Given the description of an element on the screen output the (x, y) to click on. 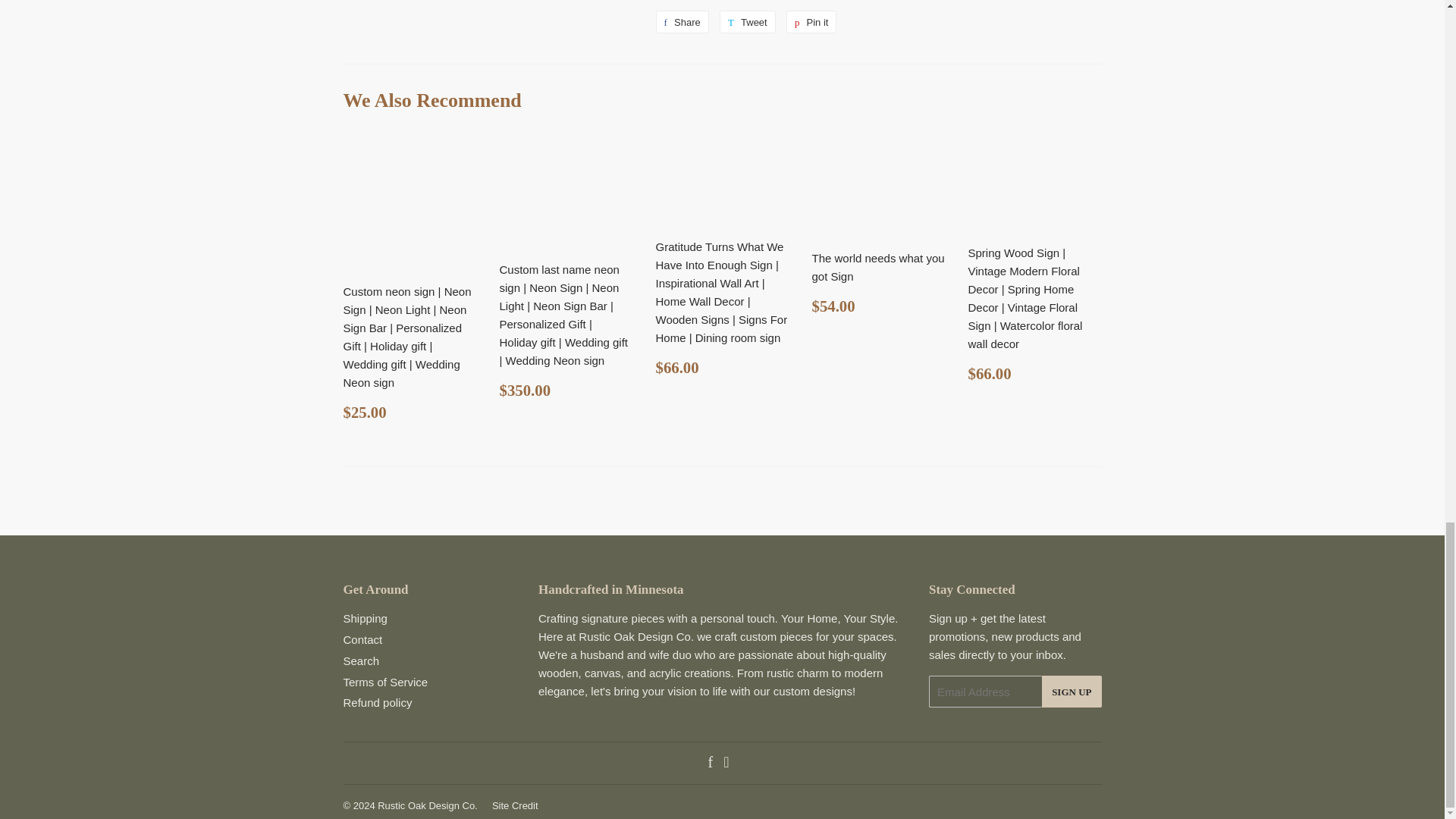
Rustic Oak Design Co. on Facebook (710, 762)
Terms of Service (681, 21)
Share on Facebook (385, 681)
Pin on Pinterest (681, 21)
Refund policy (811, 21)
Tweet on Twitter (377, 702)
Rustic Oak Design Co. on Instagram (747, 21)
Search (726, 762)
Contact (747, 21)
Shipping (360, 660)
